Given the description of an element on the screen output the (x, y) to click on. 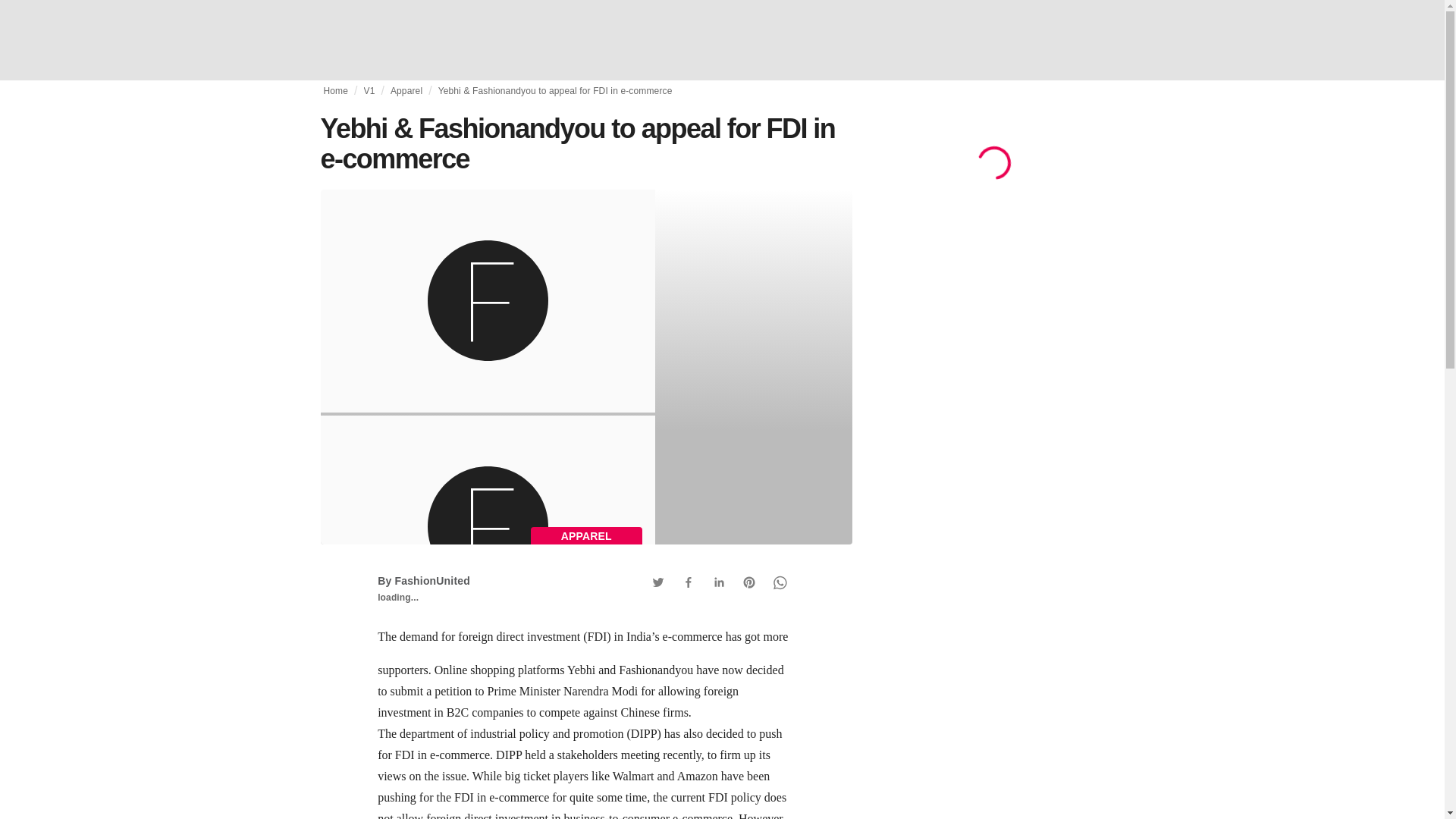
By FashionUnited (423, 580)
Home (335, 90)
V1 (369, 90)
Apparel (406, 90)
